Given the description of an element on the screen output the (x, y) to click on. 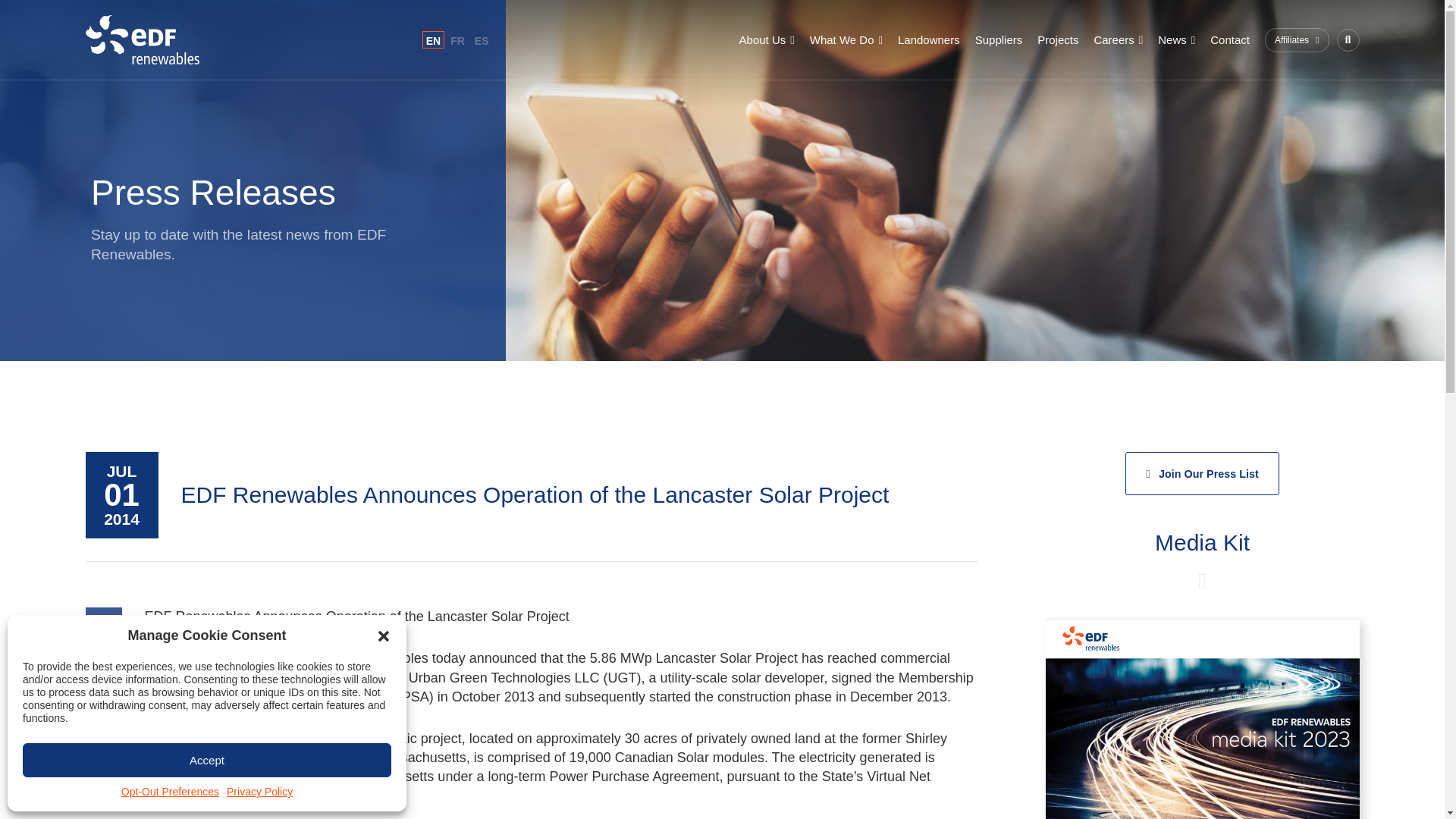
Accept (207, 759)
Opt-Out Preferences (169, 792)
Privacy Policy (259, 792)
